Given the description of an element on the screen output the (x, y) to click on. 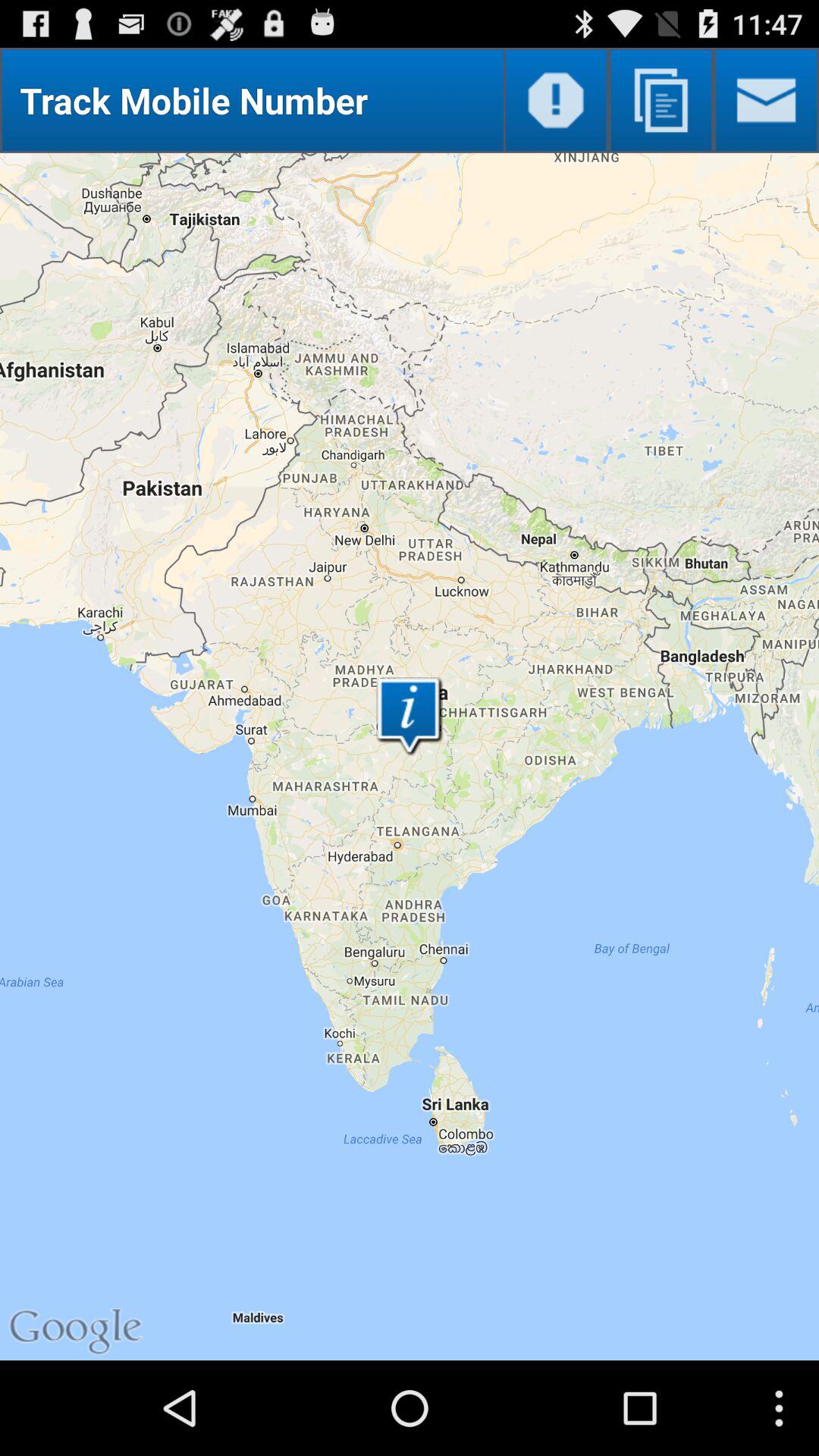
email the information (766, 99)
